Given the description of an element on the screen output the (x, y) to click on. 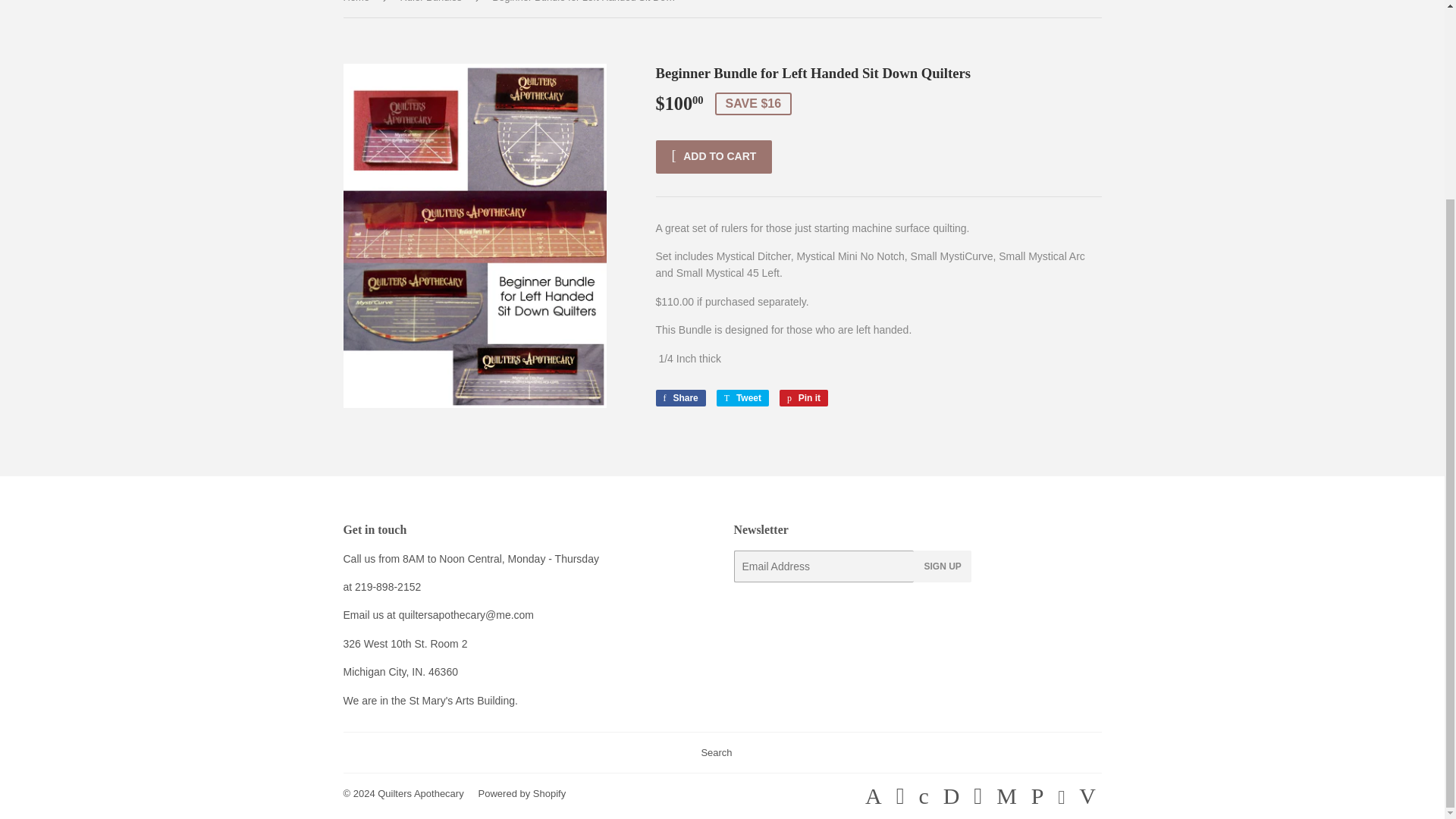
Share on Facebook (679, 397)
Powered by Shopify (742, 397)
SIGN UP (522, 793)
Ruler Bundles (942, 566)
ADD TO CART (803, 397)
Search (432, 8)
Home (713, 156)
